Given the description of an element on the screen output the (x, y) to click on. 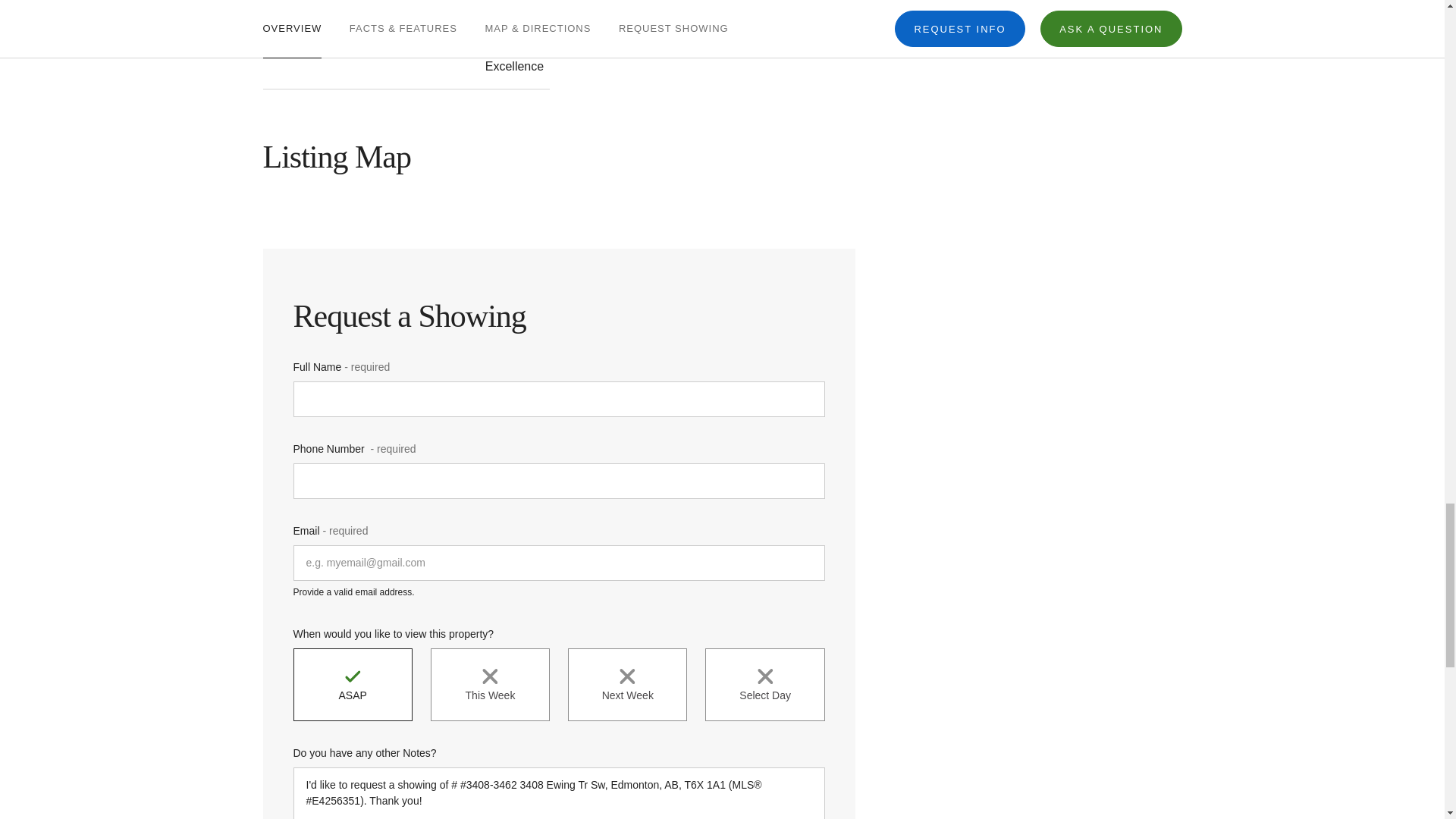
Next Week (627, 684)
ASAP (352, 684)
This Week (490, 684)
